Given the description of an element on the screen output the (x, y) to click on. 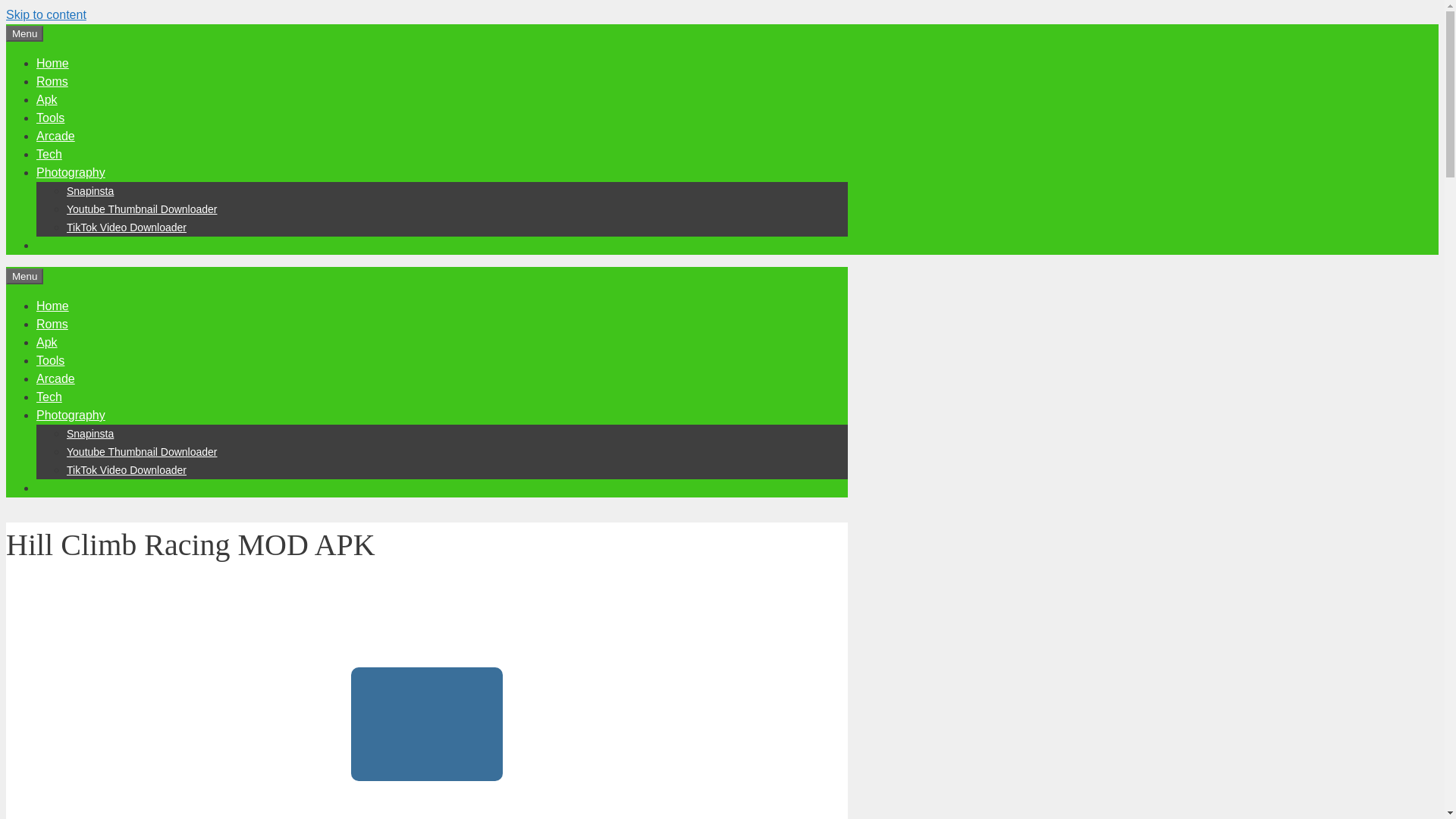
Roms (52, 323)
Apk (47, 341)
Tech (49, 154)
Youtube Thumbnail Downloader (141, 451)
Home (52, 305)
Menu (24, 33)
Menu (24, 276)
Youtube Thumbnail Downloader (141, 209)
Home (52, 62)
Apk (47, 99)
